Given the description of an element on the screen output the (x, y) to click on. 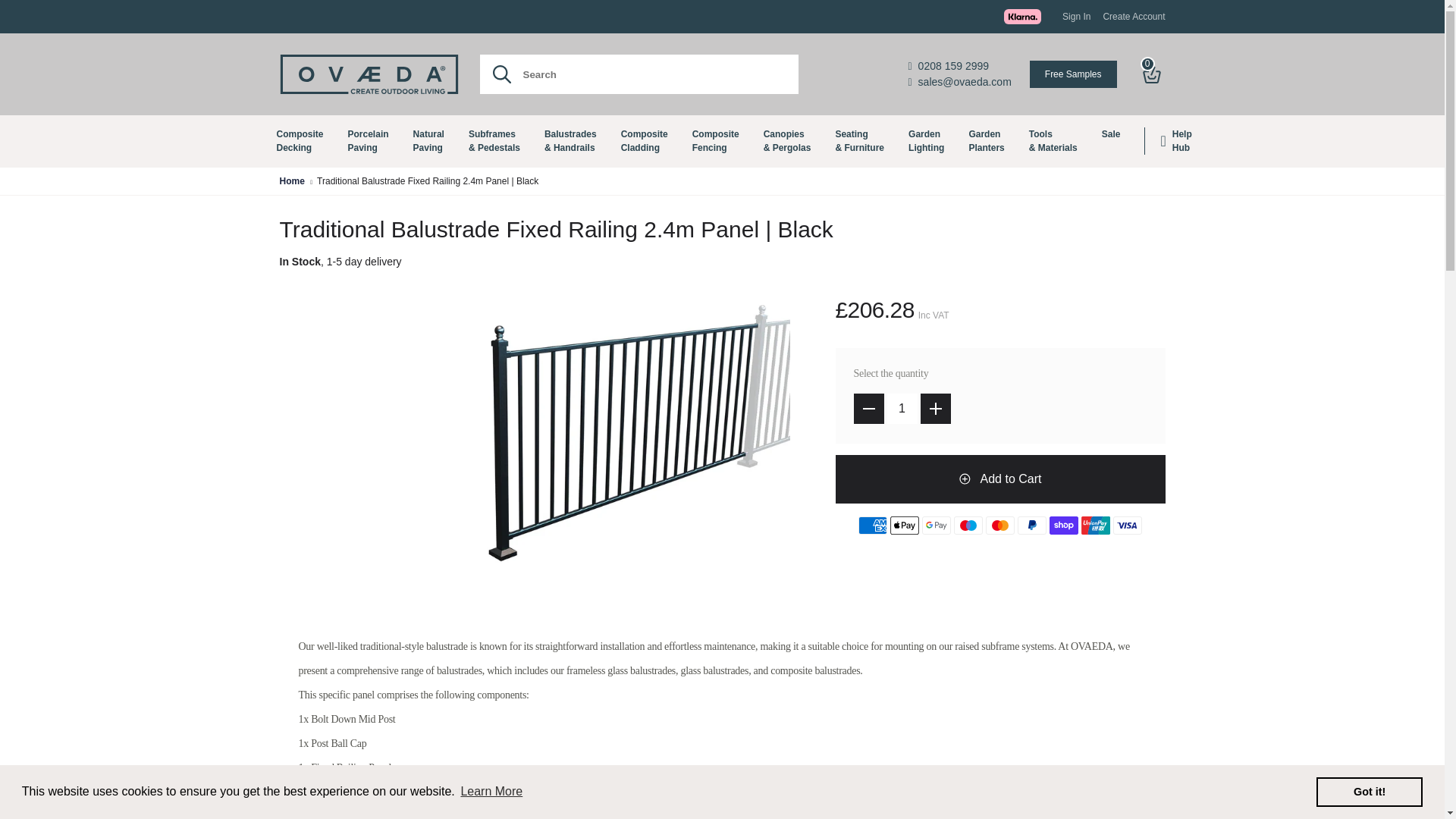
Sign In (1076, 16)
0 (1152, 74)
Union Pay (1095, 525)
0208 159 2999 (959, 66)
Got it! (1369, 791)
1 (901, 408)
Visa (1127, 525)
PayPal (1031, 525)
Learn More (491, 791)
Mastercard (999, 525)
Create Account (299, 140)
Apple Pay (1133, 16)
American Express (903, 525)
Shop Pay (872, 525)
